Given the description of an element on the screen output the (x, y) to click on. 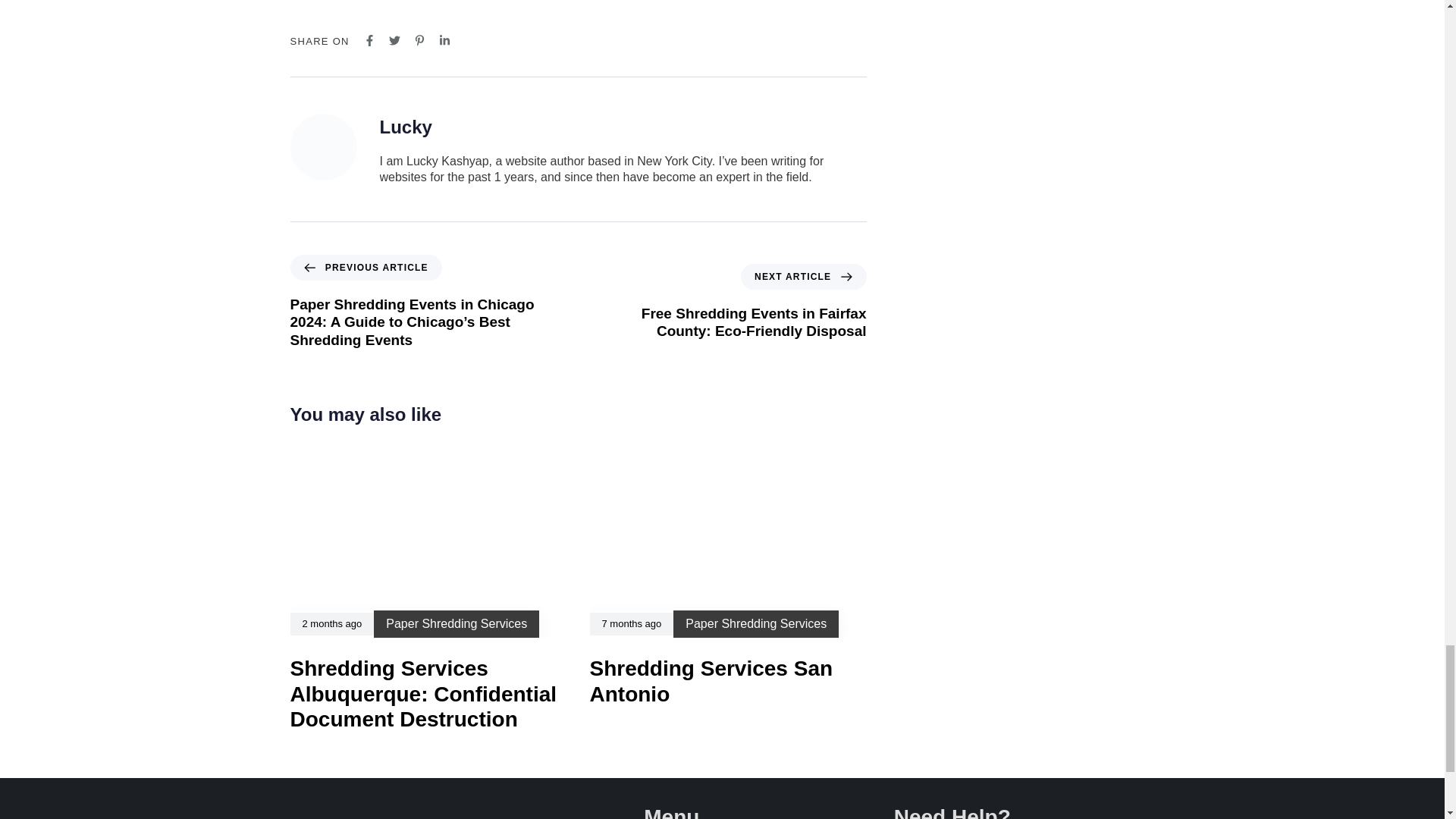
Posts by Lucky (404, 127)
